Given the description of an element on the screen output the (x, y) to click on. 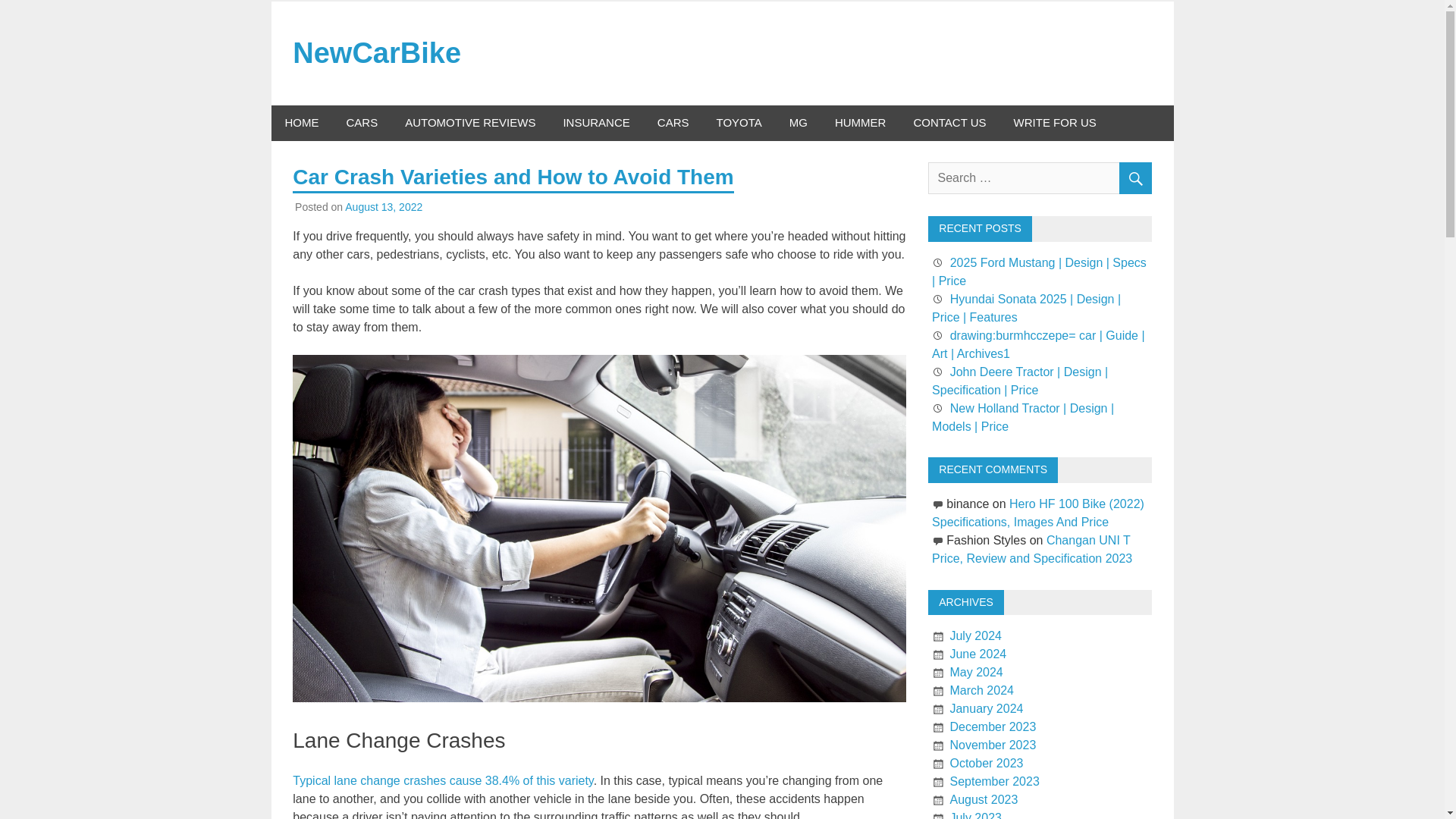
HOME (301, 122)
TOYOTA (737, 122)
June 2024 (977, 653)
August 13, 2022 (383, 206)
3:11 pm (383, 206)
MG (798, 122)
CONTACT US (948, 122)
CARS (673, 122)
INSURANCE (595, 122)
NewCarBike (376, 52)
HUMMER (860, 122)
Changan UNI T Price, Review and Specification 2023 (1031, 549)
WRITE FOR US (1054, 122)
CARS (361, 122)
July 2024 (975, 635)
